Given the description of an element on the screen output the (x, y) to click on. 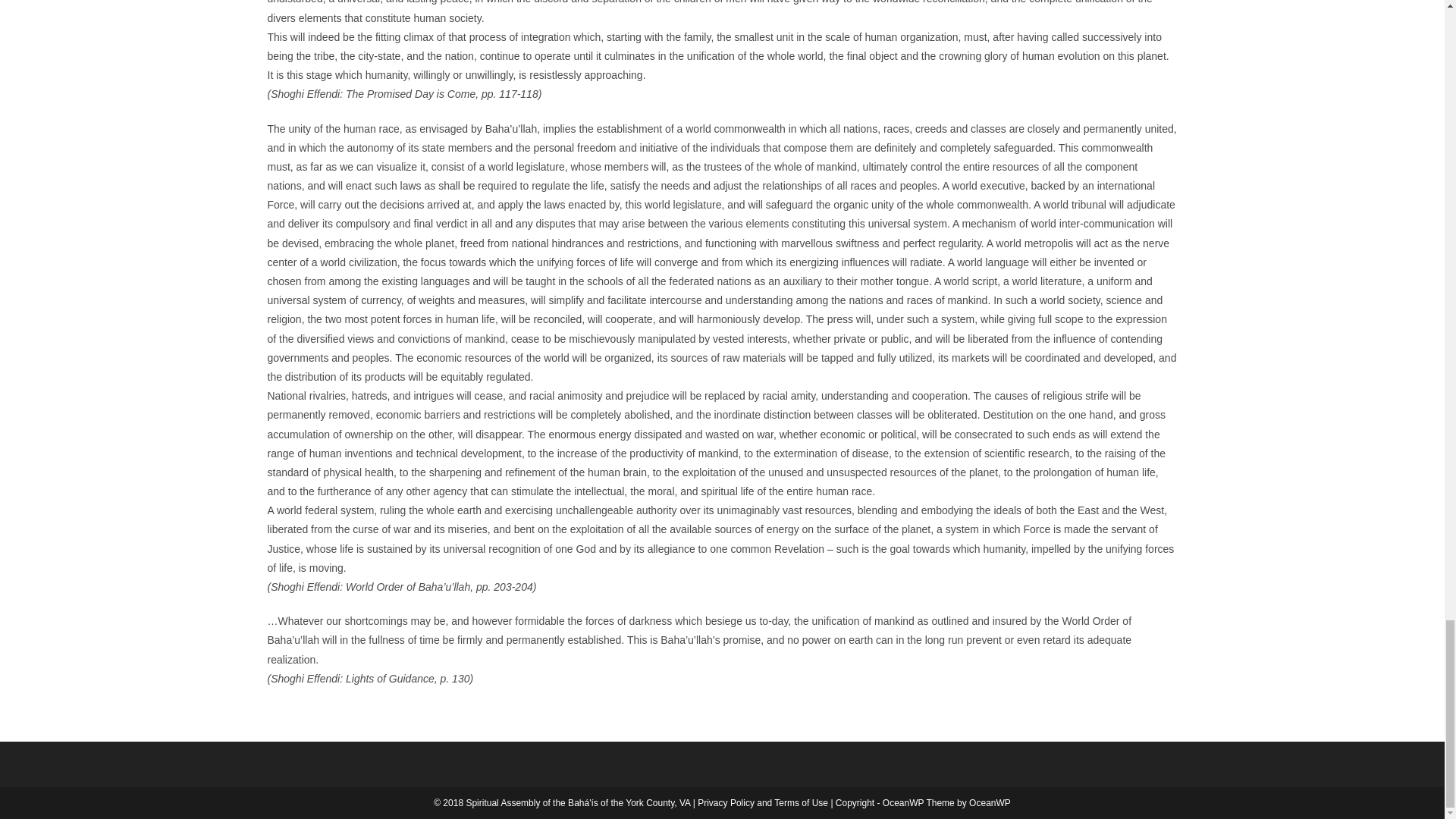
Privacy Policy and Terms of Use (763, 802)
